Given the description of an element on the screen output the (x, y) to click on. 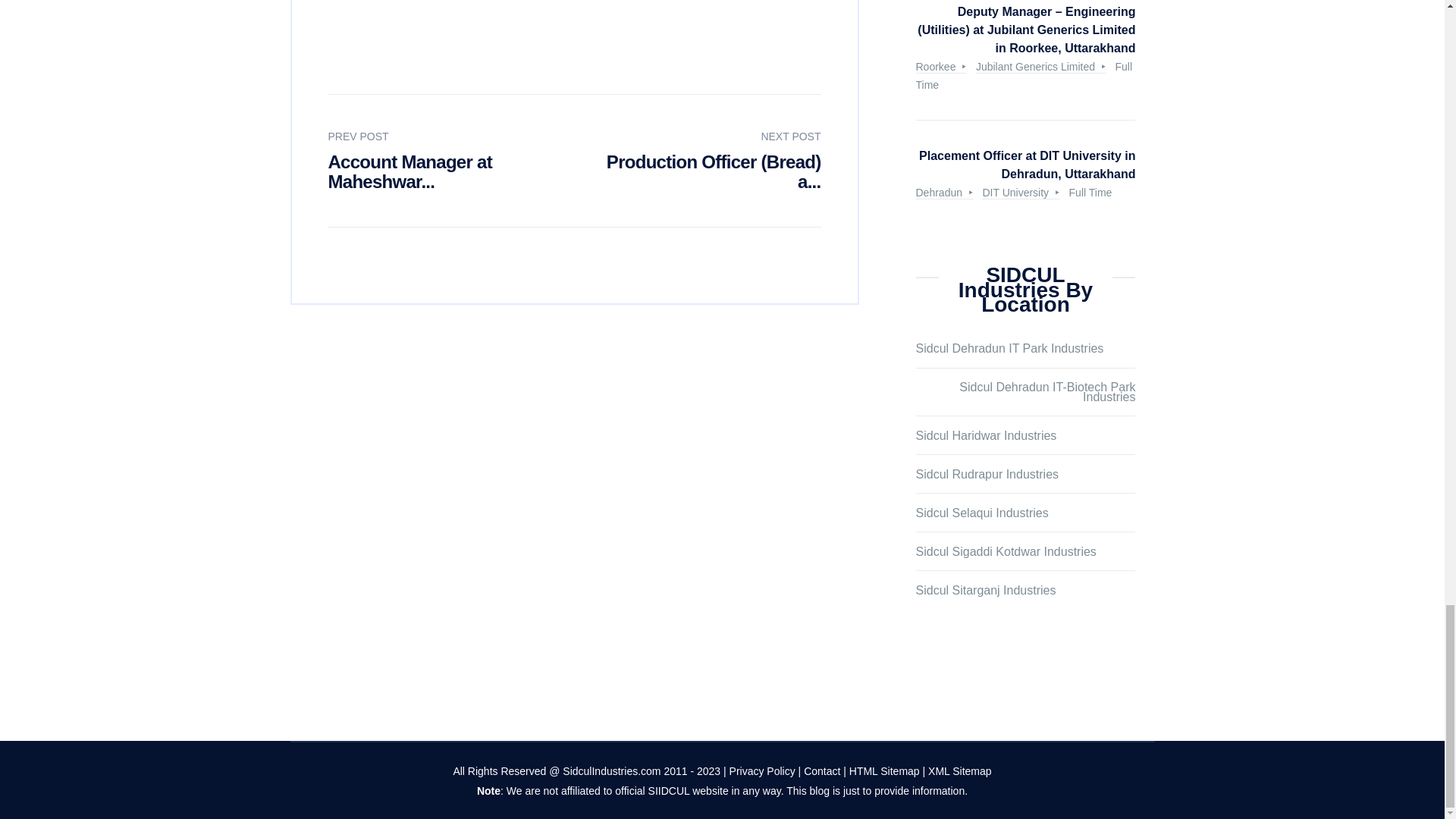
Sitarganj Industries (986, 591)
Dehradun IT-Biotech Park Industries (1025, 392)
Sigaddi Kotdwar Industries (1005, 552)
Dehradun IT Park Industries (1009, 348)
Haridwar Industries (986, 436)
Account Manager at Maheshwar... (409, 171)
Rudrapur Industries (987, 474)
Selaqui Pharma Industries (981, 513)
Sidcul Dehradun IT Park Industries (1009, 348)
Sidcul Haridwar Industries (986, 436)
Sidcul Dehradun IT-Biotech Park Industries (1025, 392)
